Given the description of an element on the screen output the (x, y) to click on. 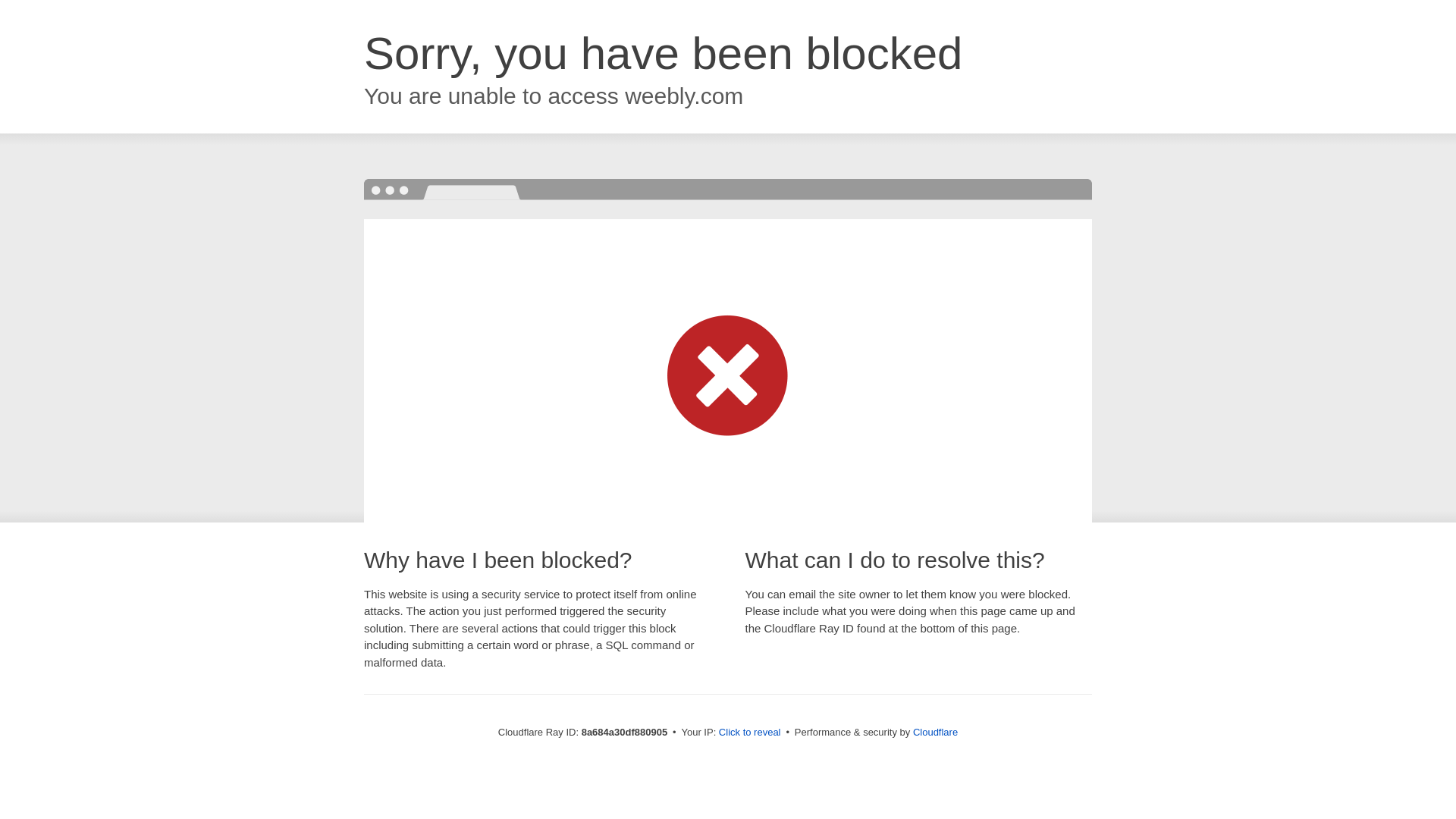
Click to reveal (749, 732)
Cloudflare (935, 731)
